Given the description of an element on the screen output the (x, y) to click on. 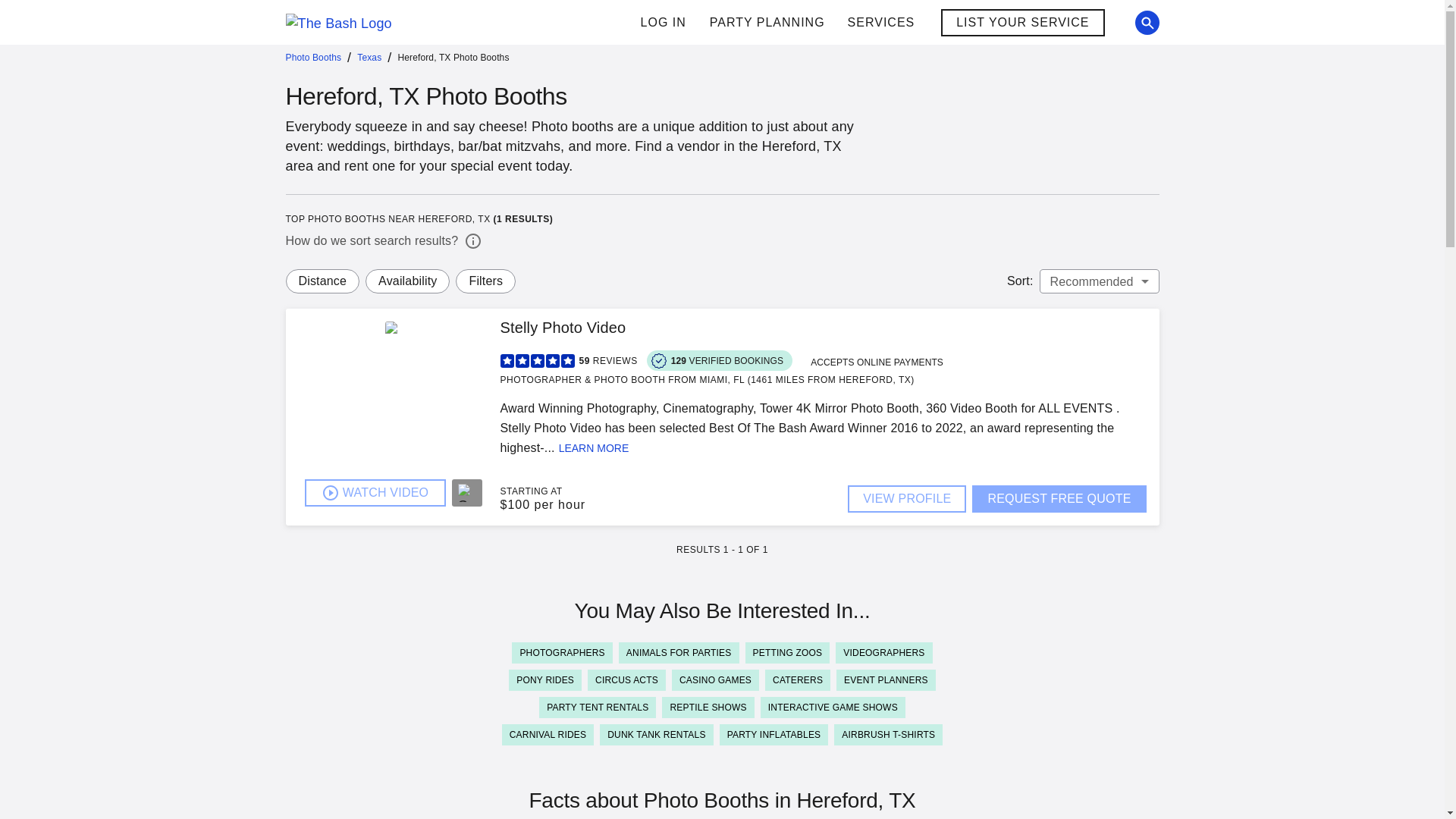
LOG IN (662, 22)
LIST YOUR SERVICE (1021, 22)
